Given the description of an element on the screen output the (x, y) to click on. 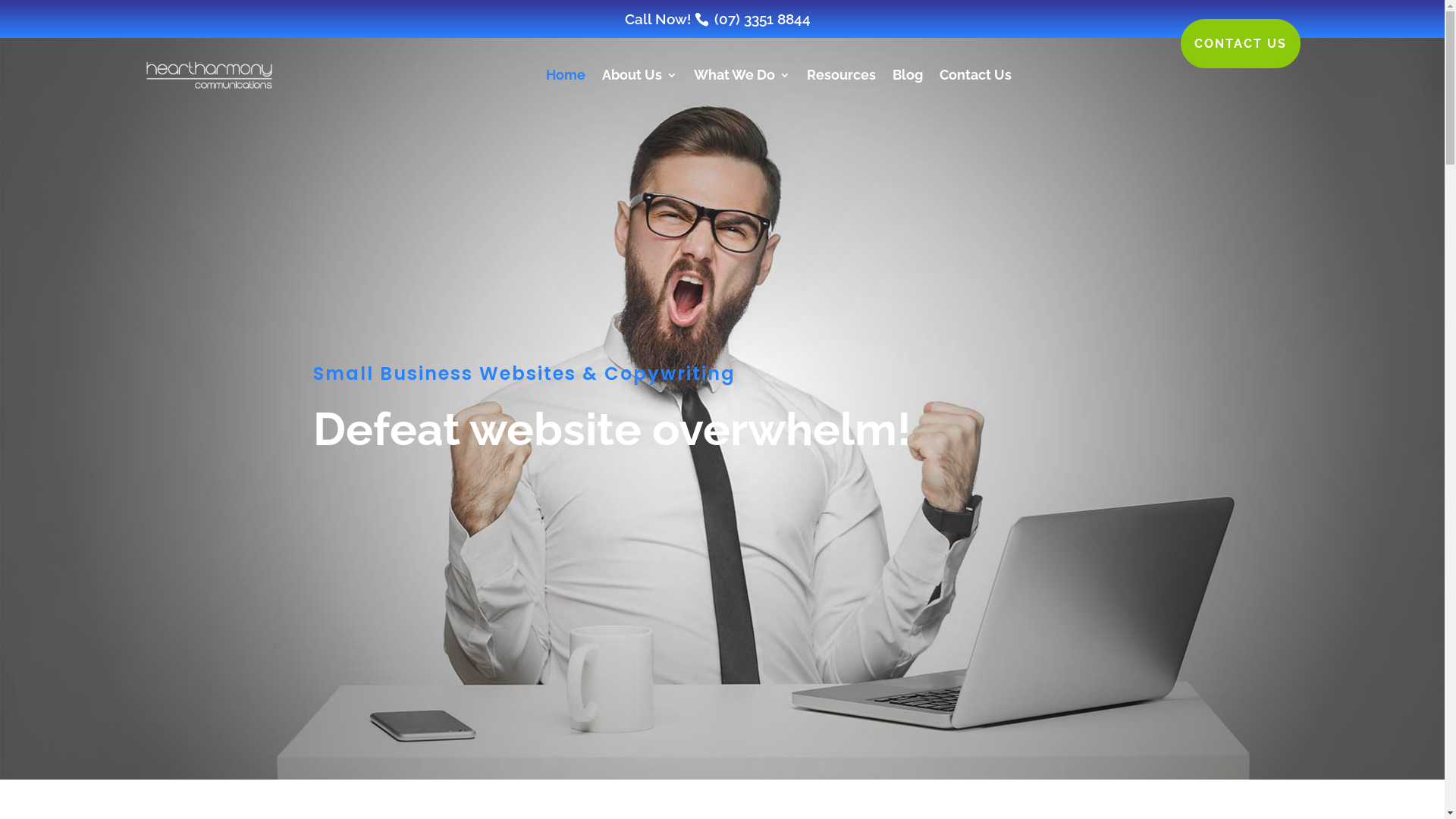
About Us Element type: text (639, 74)
Resources Element type: text (840, 74)
What We Do Element type: text (741, 74)
Home Element type: text (565, 74)
CONTACT US Element type: text (1239, 43)
Contact Us Element type: text (974, 74)
Blog Element type: text (906, 74)
(07) 3351 8844 Element type: text (762, 18)
